Given the description of an element on the screen output the (x, y) to click on. 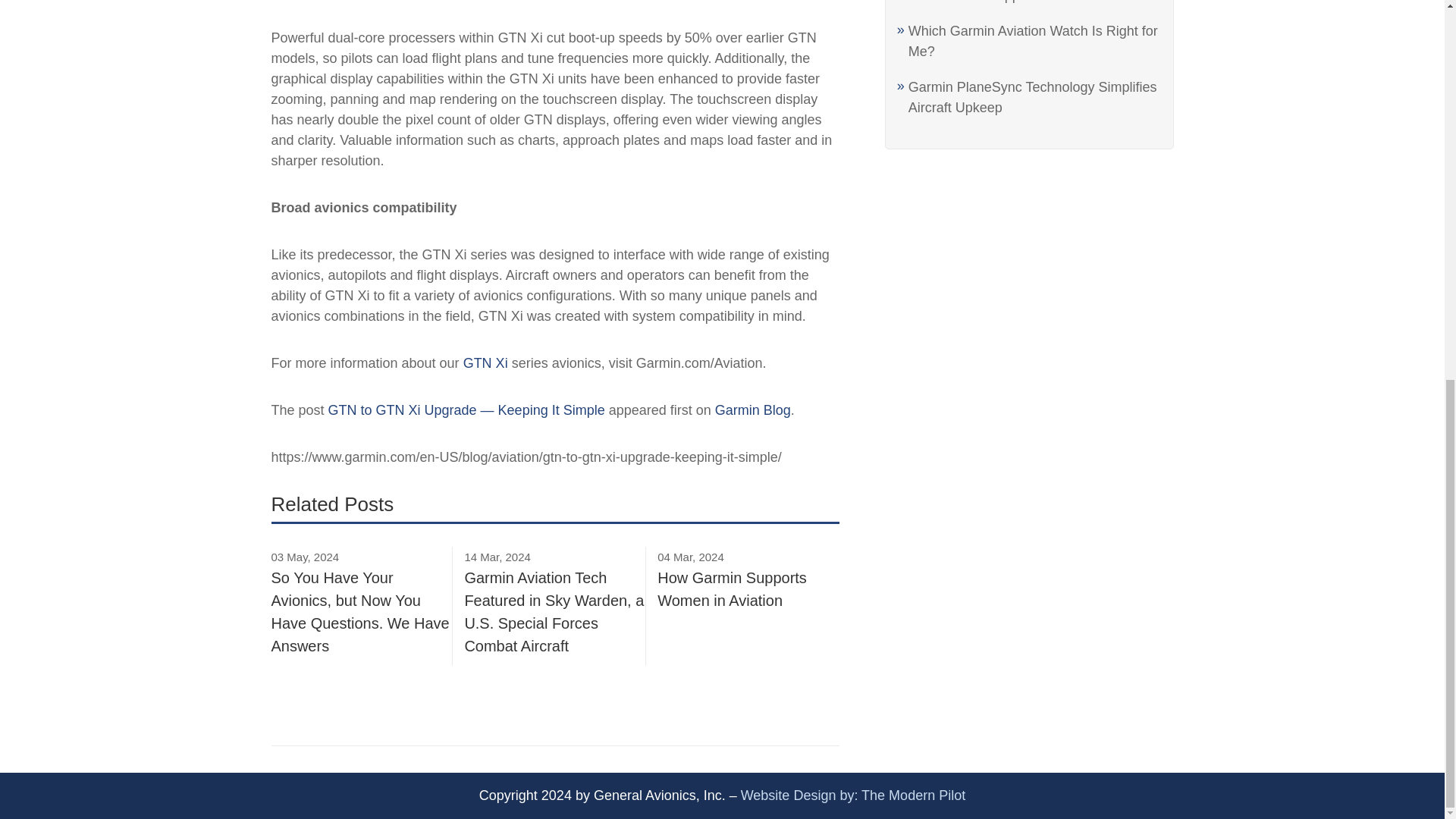
Which Garmin Aviation Watch Is Right for Me? (1032, 40)
How Garmin Supports Women in Aviation (1033, 1)
Garmin Blog (752, 409)
GTN Xi (485, 363)
Garmin PlaneSync Technology Simplifies Aircraft Upkeep (1032, 97)
